Given the description of an element on the screen output the (x, y) to click on. 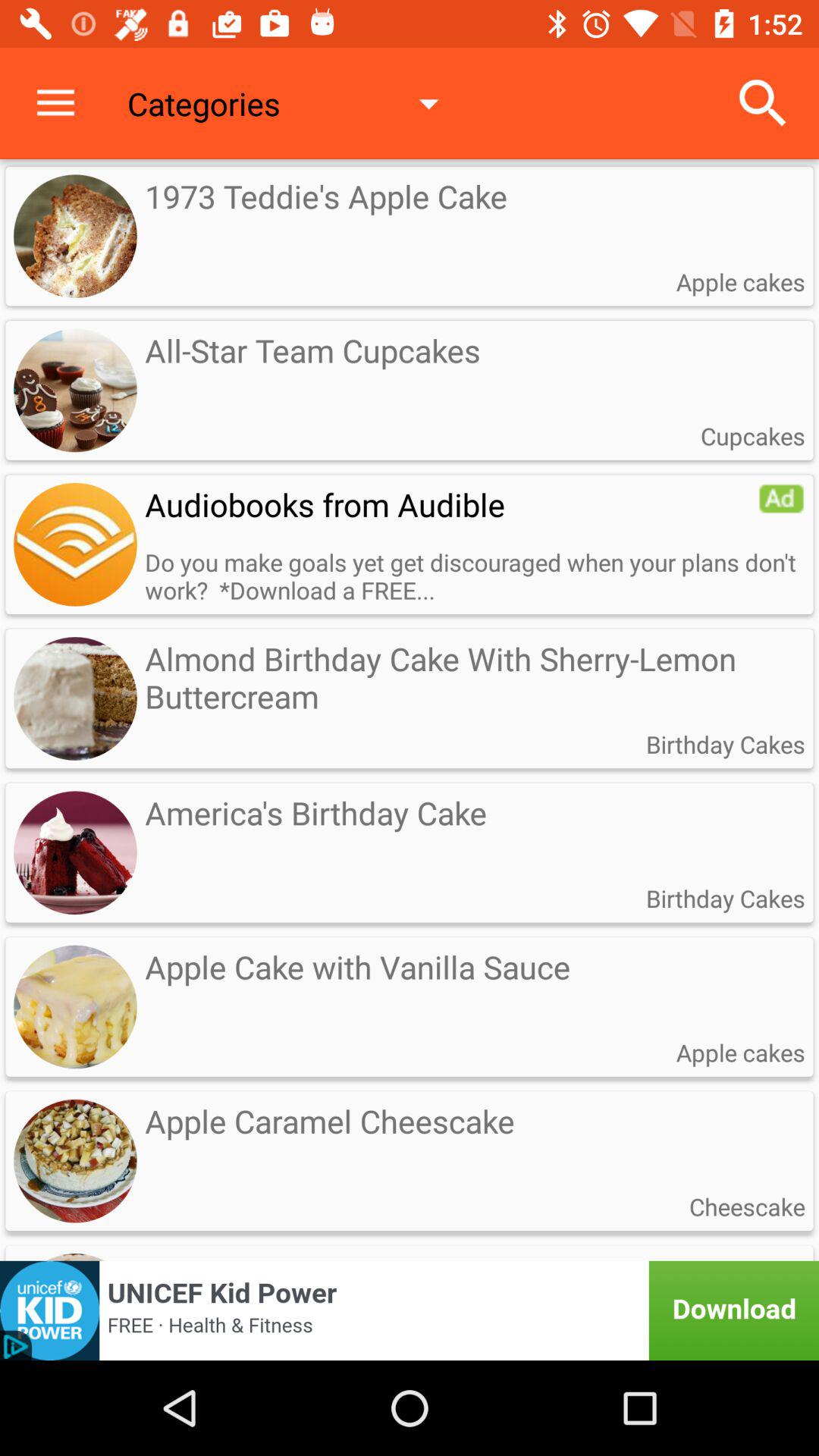
view add (75, 544)
